Given the description of an element on the screen output the (x, y) to click on. 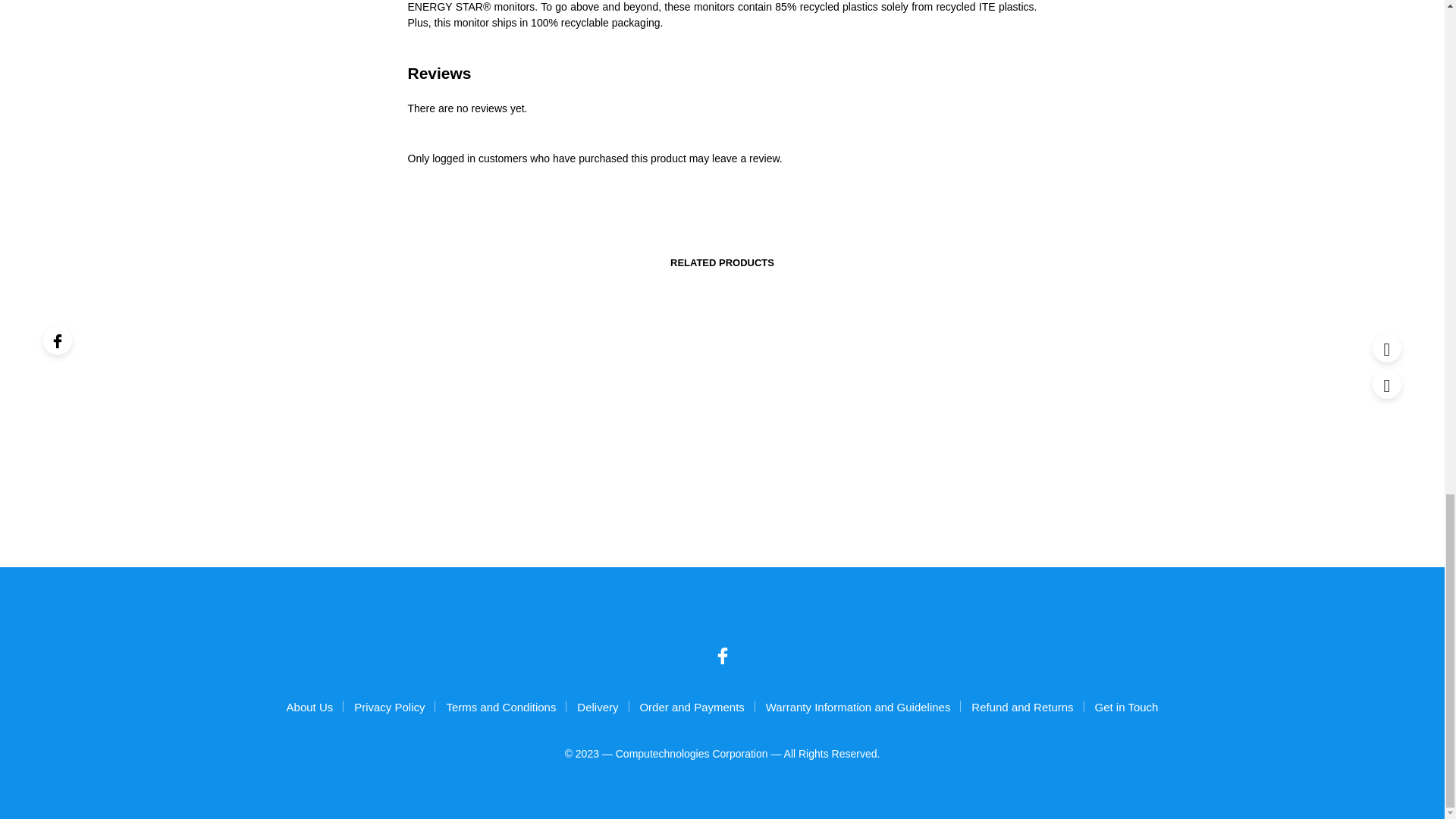
Facebook (721, 656)
